Given the description of an element on the screen output the (x, y) to click on. 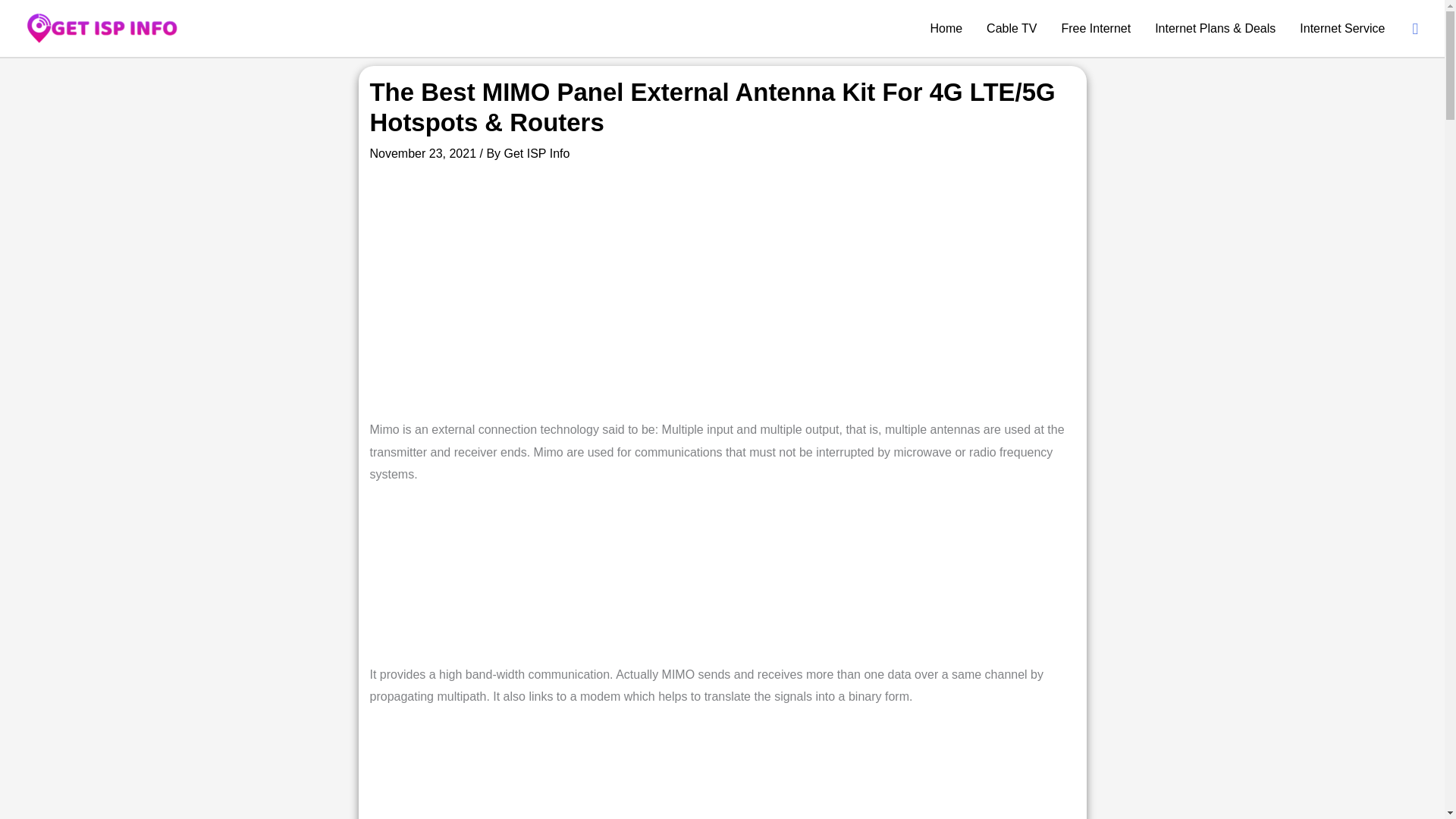
Home (945, 27)
Cable TV (1011, 27)
View all posts by Get ISP Info (536, 153)
Free Internet (1095, 27)
Advertisement (721, 773)
Get ISP Info (536, 153)
Internet Service (1341, 27)
Advertisement (721, 298)
Advertisement (722, 581)
